Given the description of an element on the screen output the (x, y) to click on. 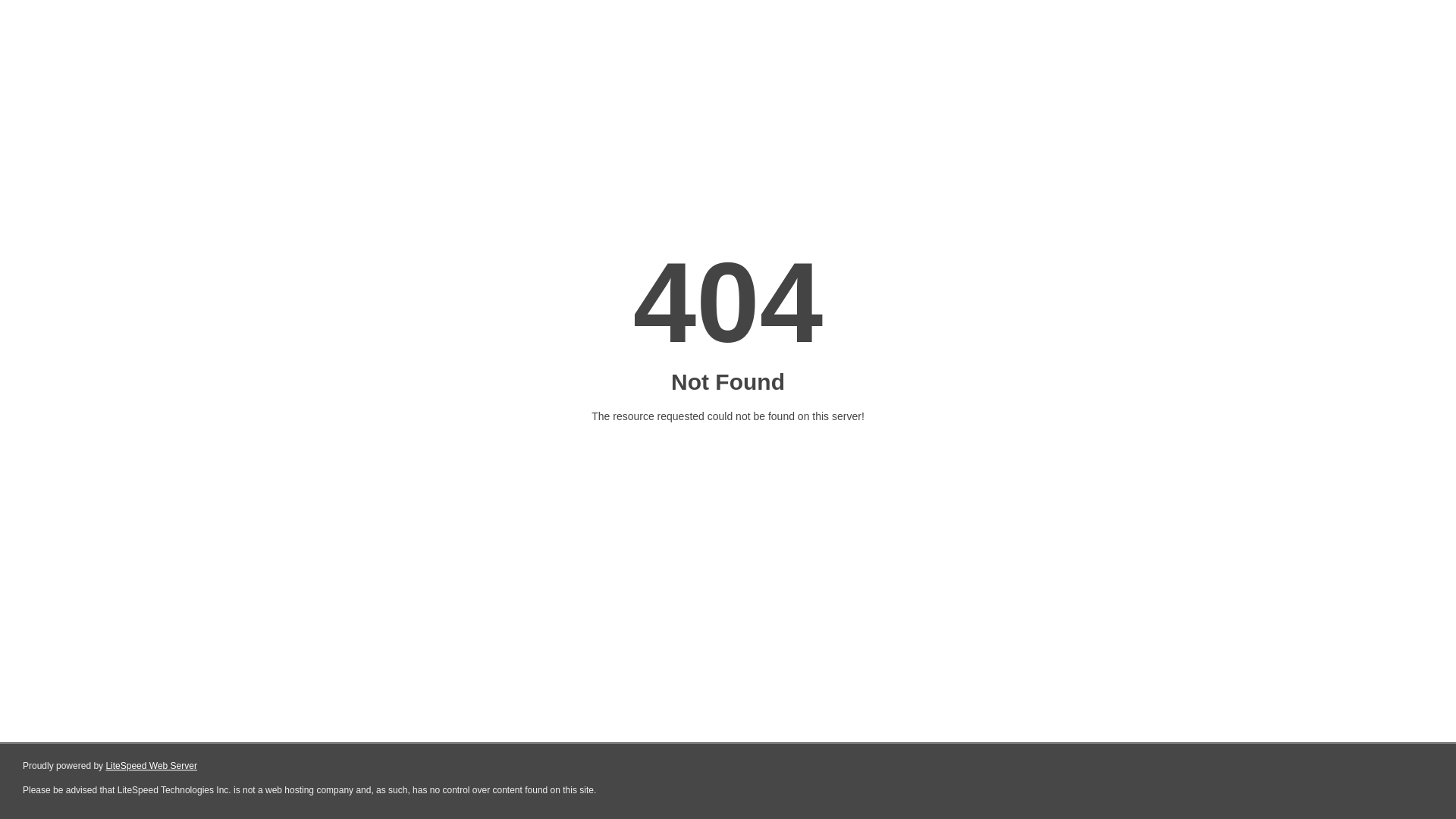
LiteSpeed Web Server Element type: text (151, 765)
